Given the description of an element on the screen output the (x, y) to click on. 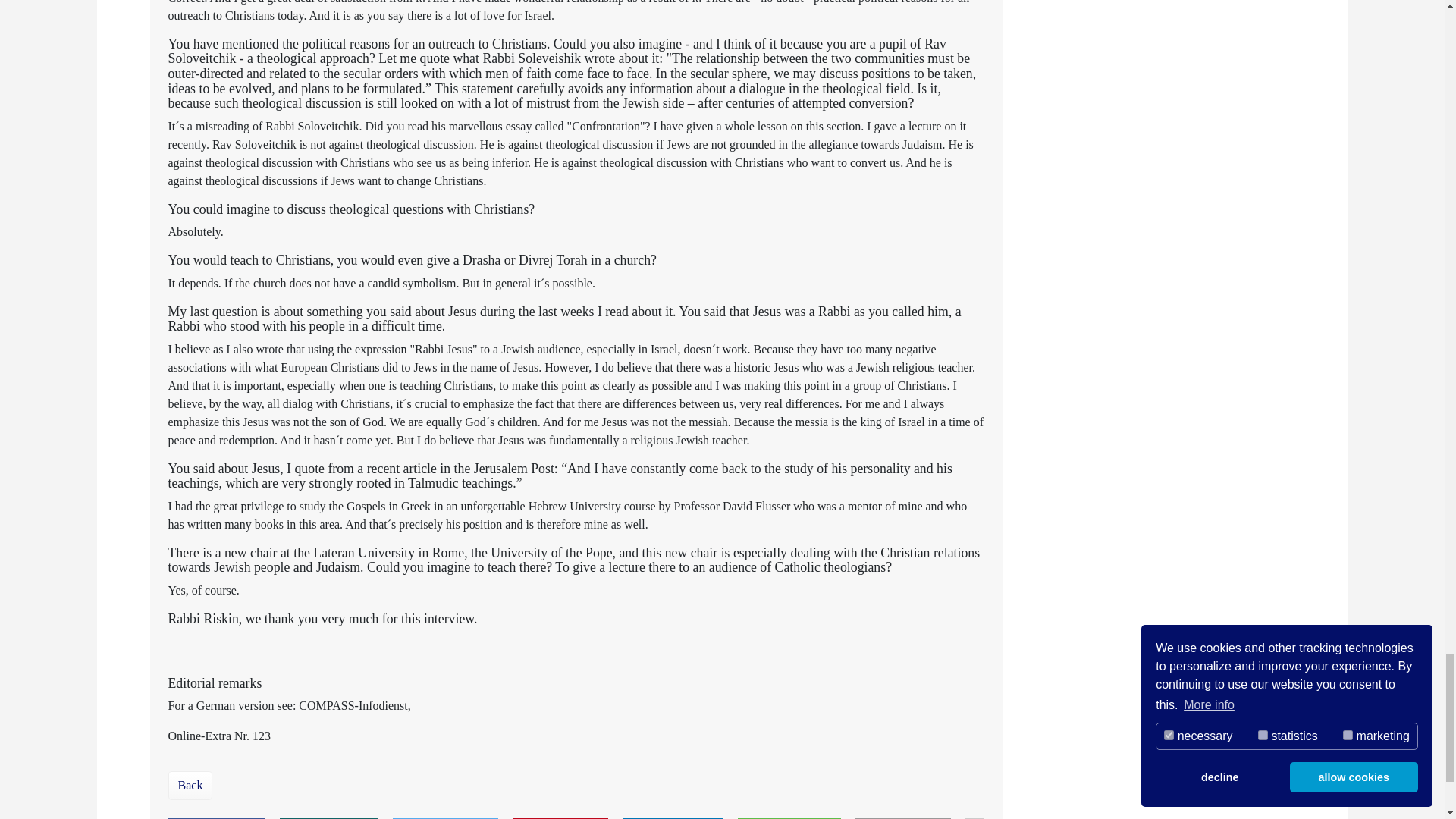
Back (71, 784)
